Given the description of an element on the screen output the (x, y) to click on. 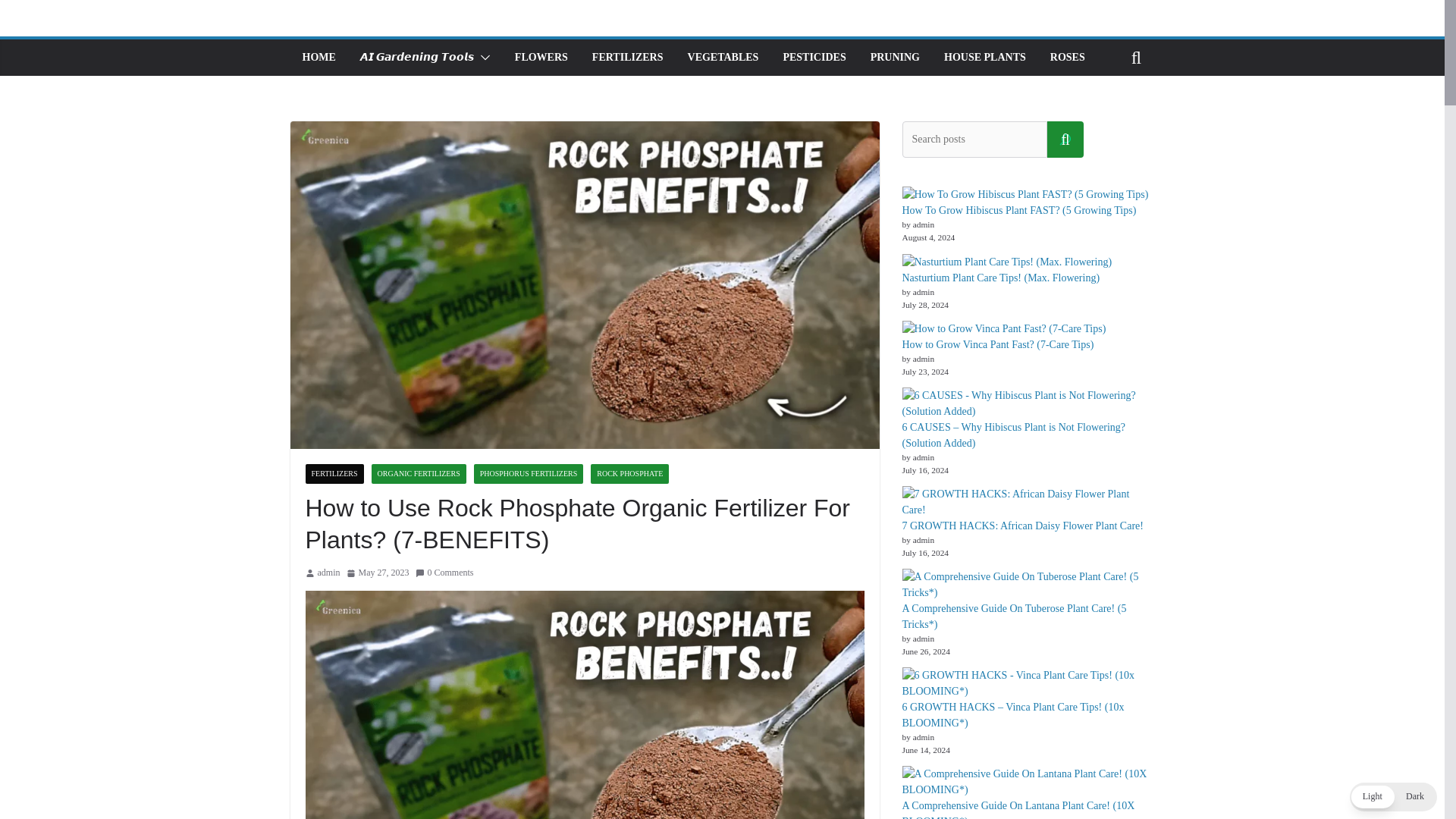
admin (328, 573)
FERTILIZERS (627, 56)
3:06 pm (377, 573)
HOME (317, 56)
ROCK PHOSPHATE (629, 474)
HOUSE PLANTS (984, 56)
PRUNING (895, 56)
FERTILIZERS (333, 474)
ROSES (1066, 56)
ORGANIC FERTILIZERS (418, 474)
